Given the description of an element on the screen output the (x, y) to click on. 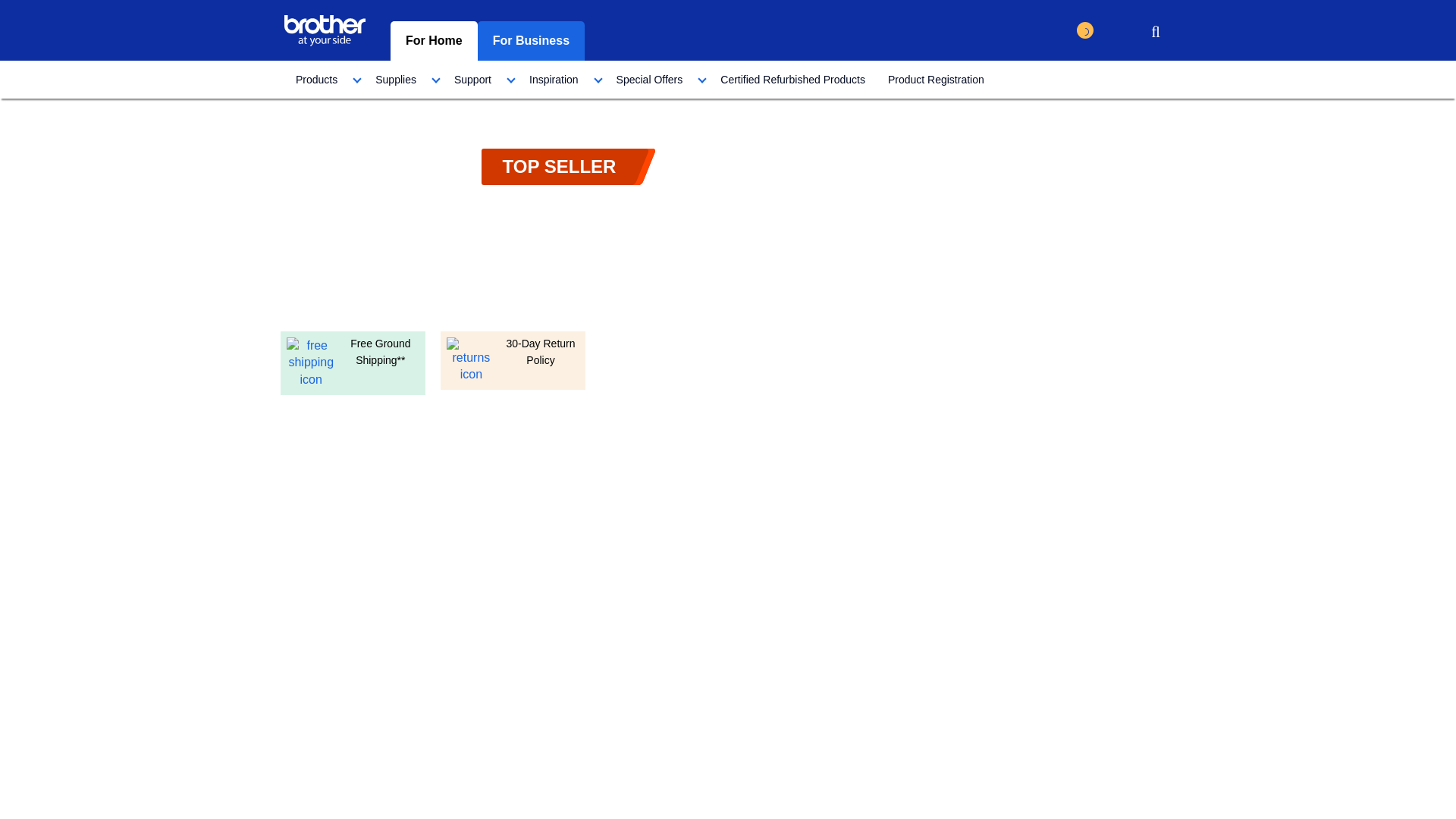
Login (1117, 33)
For Business (531, 41)
Products (323, 79)
For Home (433, 41)
